Given the description of an element on the screen output the (x, y) to click on. 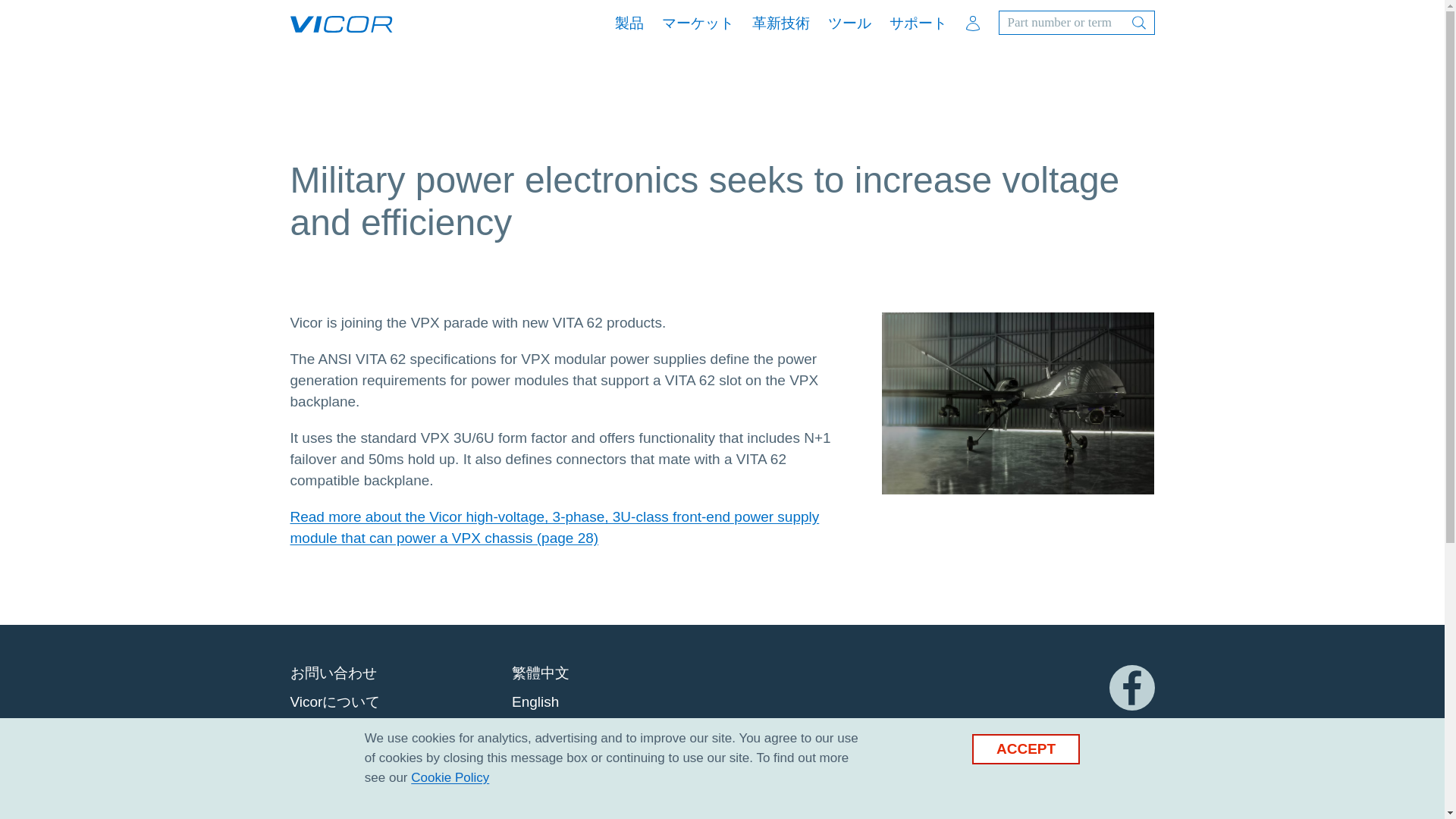
Privacy Policy (449, 777)
Switch to (540, 672)
Switch to (535, 701)
Switch to (540, 730)
